Given the description of an element on the screen output the (x, y) to click on. 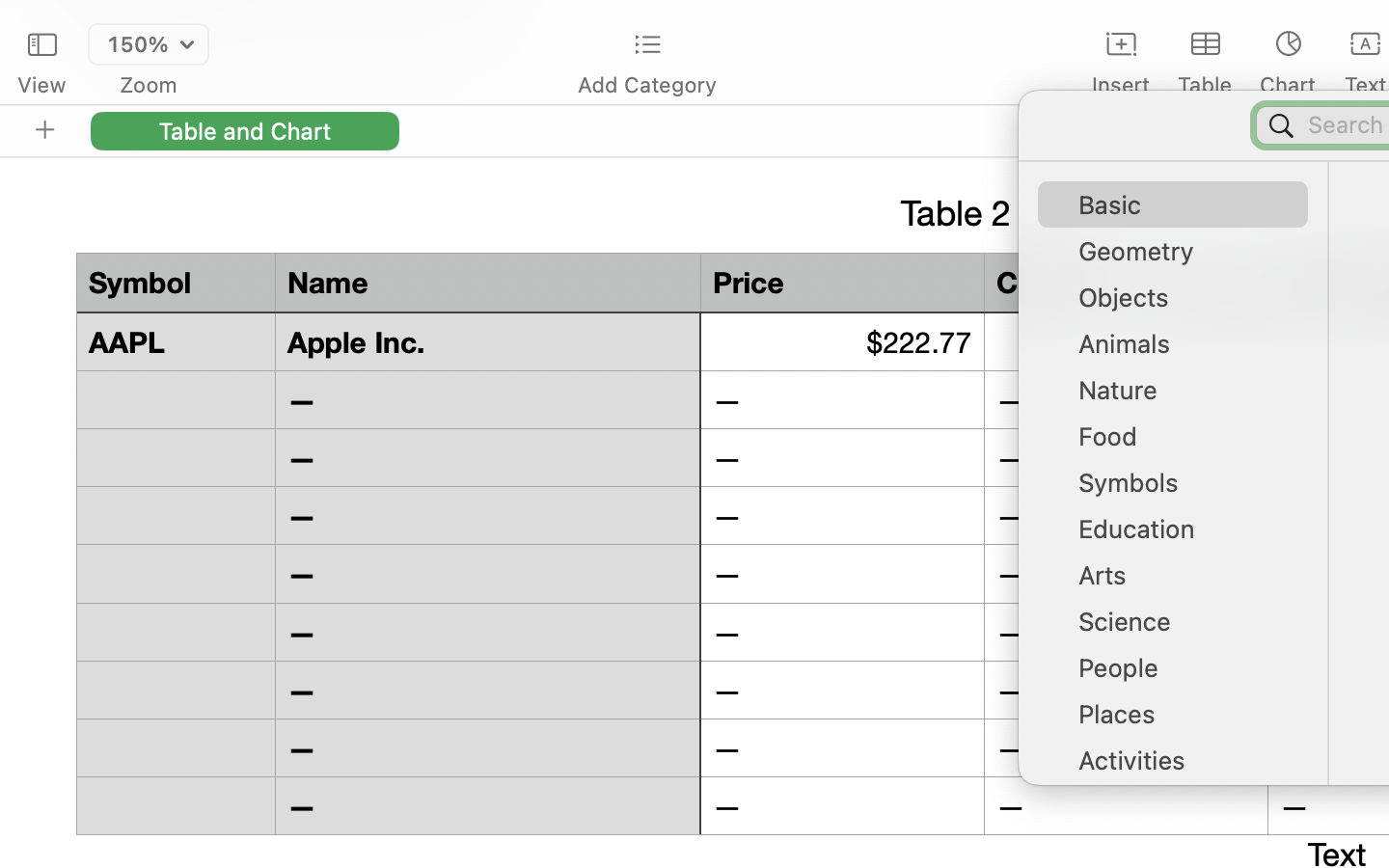
Nature Element type: AXStaticText (1182, 397)
Science Element type: AXStaticText (1182, 628)
Insert Element type: AXStaticText (1120, 84)
Animals Element type: AXStaticText (1182, 350)
